Given the description of an element on the screen output the (x, y) to click on. 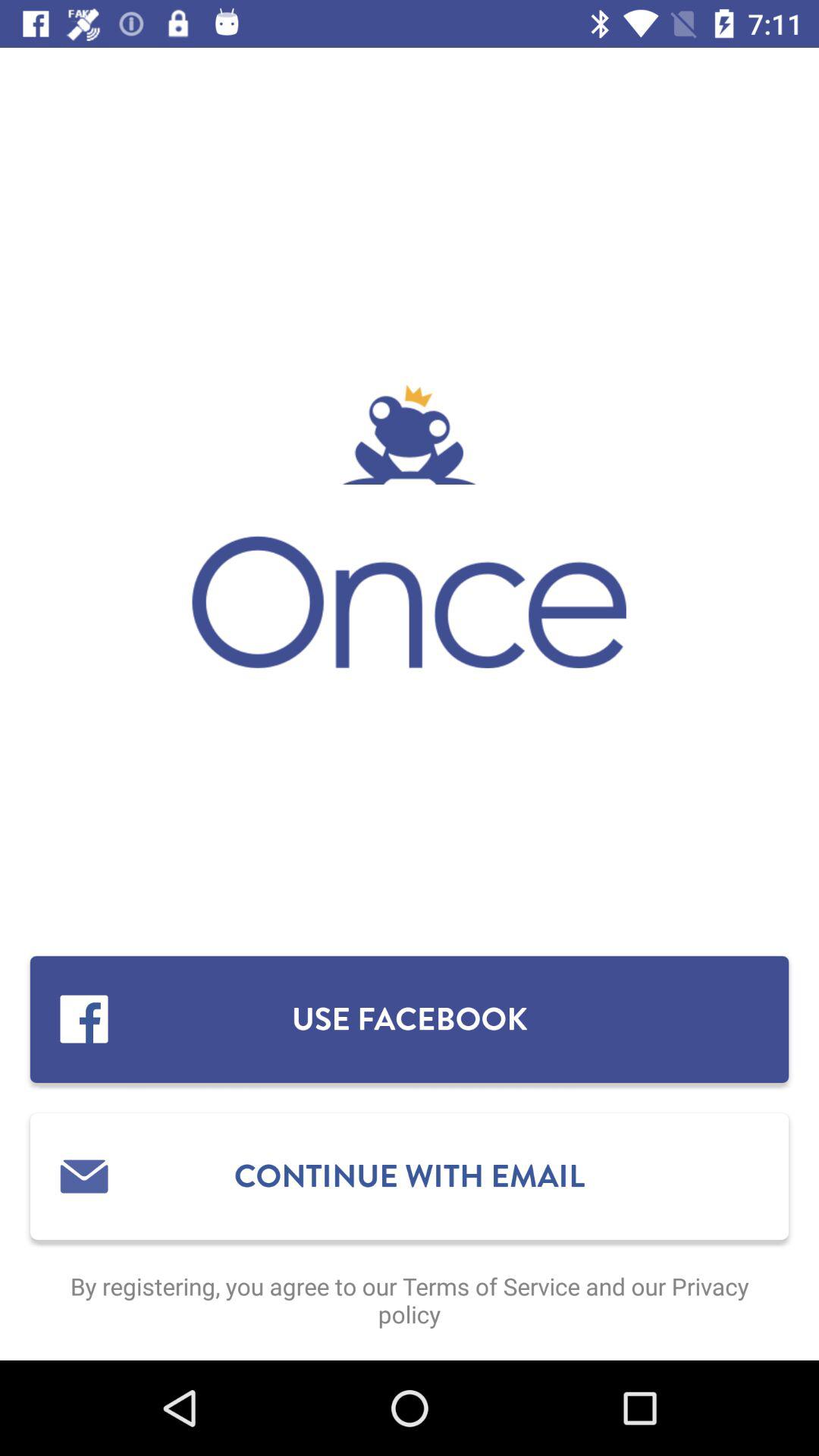
jump to by registering you item (409, 1300)
